Given the description of an element on the screen output the (x, y) to click on. 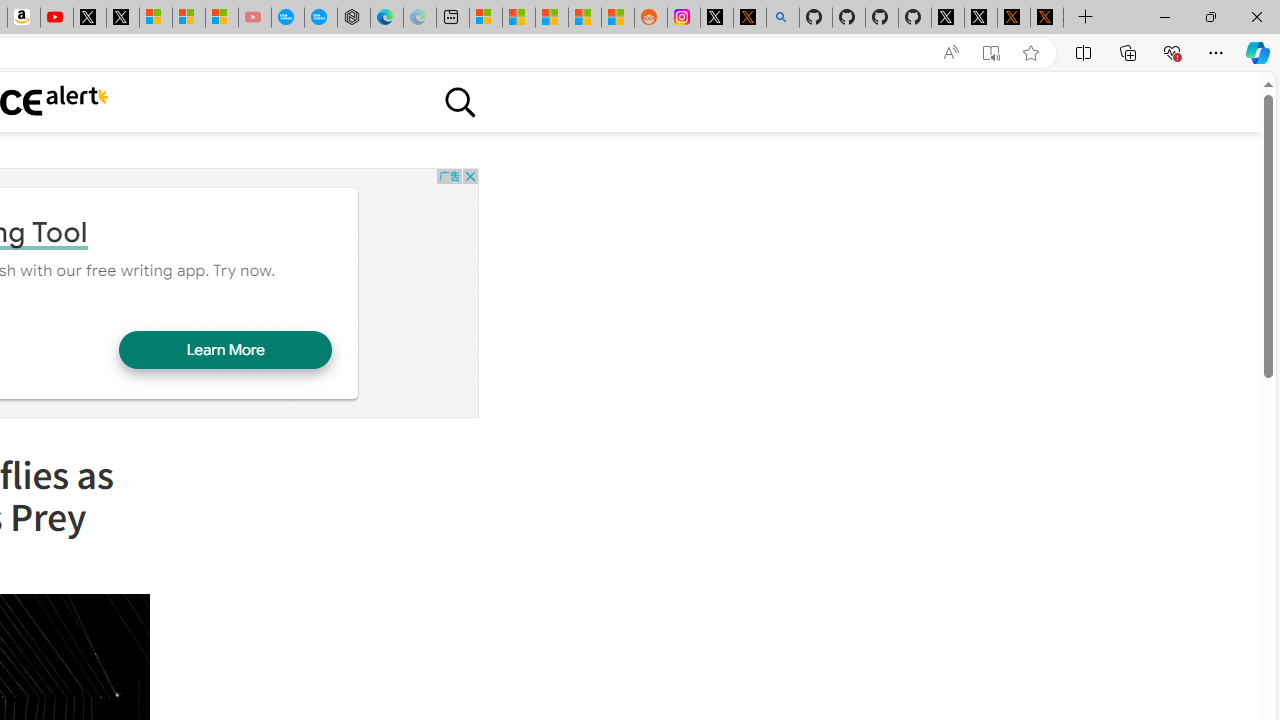
github - Search (782, 17)
Shanghai, China Weather trends | Microsoft Weather (617, 17)
Class: sciencealert-search-desktop-svg  (459, 102)
Shanghai, China weather forecast | Microsoft Weather (519, 17)
Gloom - YouTube - Sleeping (255, 17)
Log in to X / X (717, 17)
GitHub (@github) / X (981, 17)
